Given the description of an element on the screen output the (x, y) to click on. 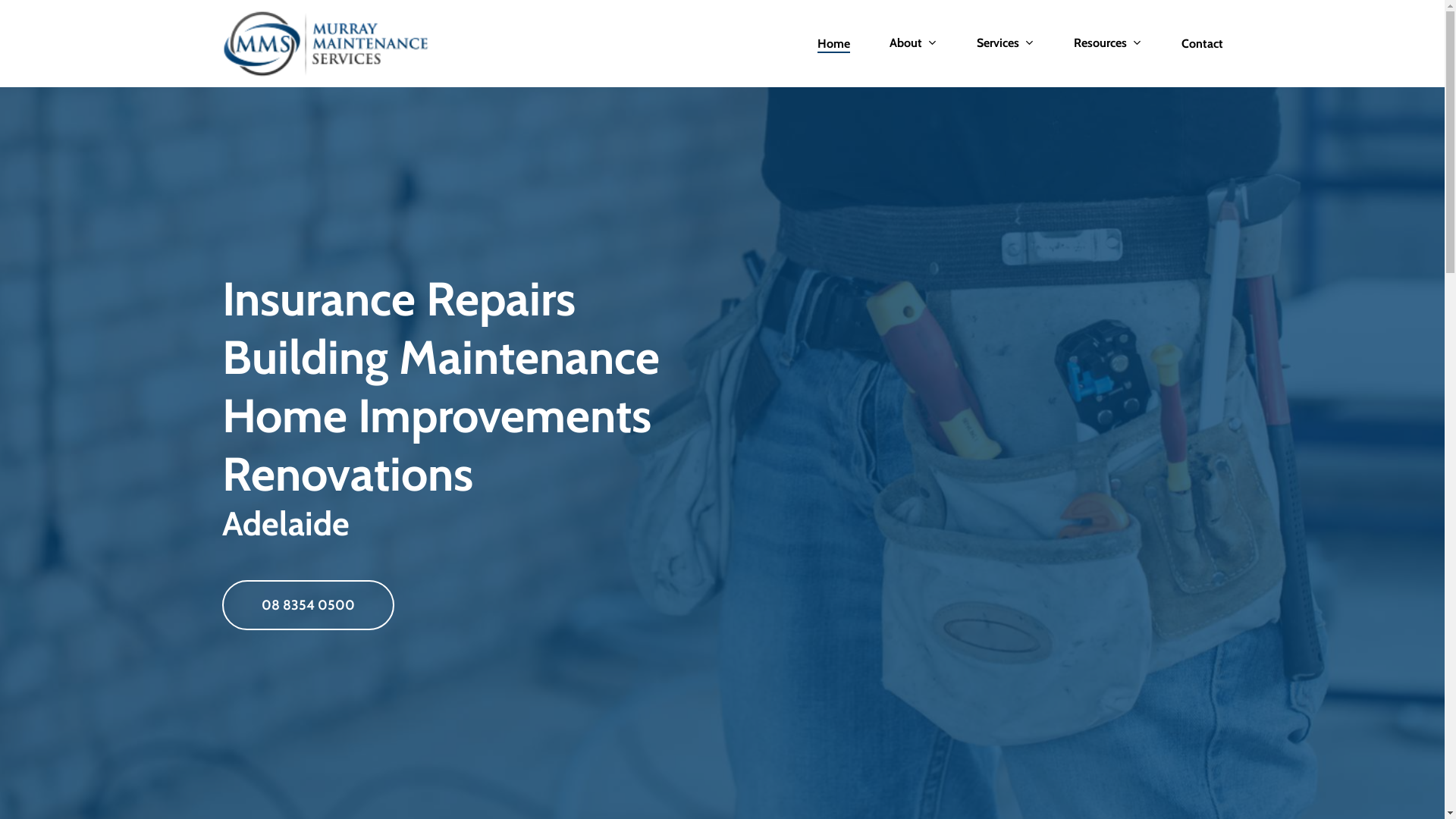
Services Element type: text (1005, 43)
Resources Element type: text (1107, 43)
08 8354 0500 Element type: text (307, 604)
About Element type: text (912, 43)
Contact Element type: text (1202, 43)
Home Element type: text (833, 43)
